Given the description of an element on the screen output the (x, y) to click on. 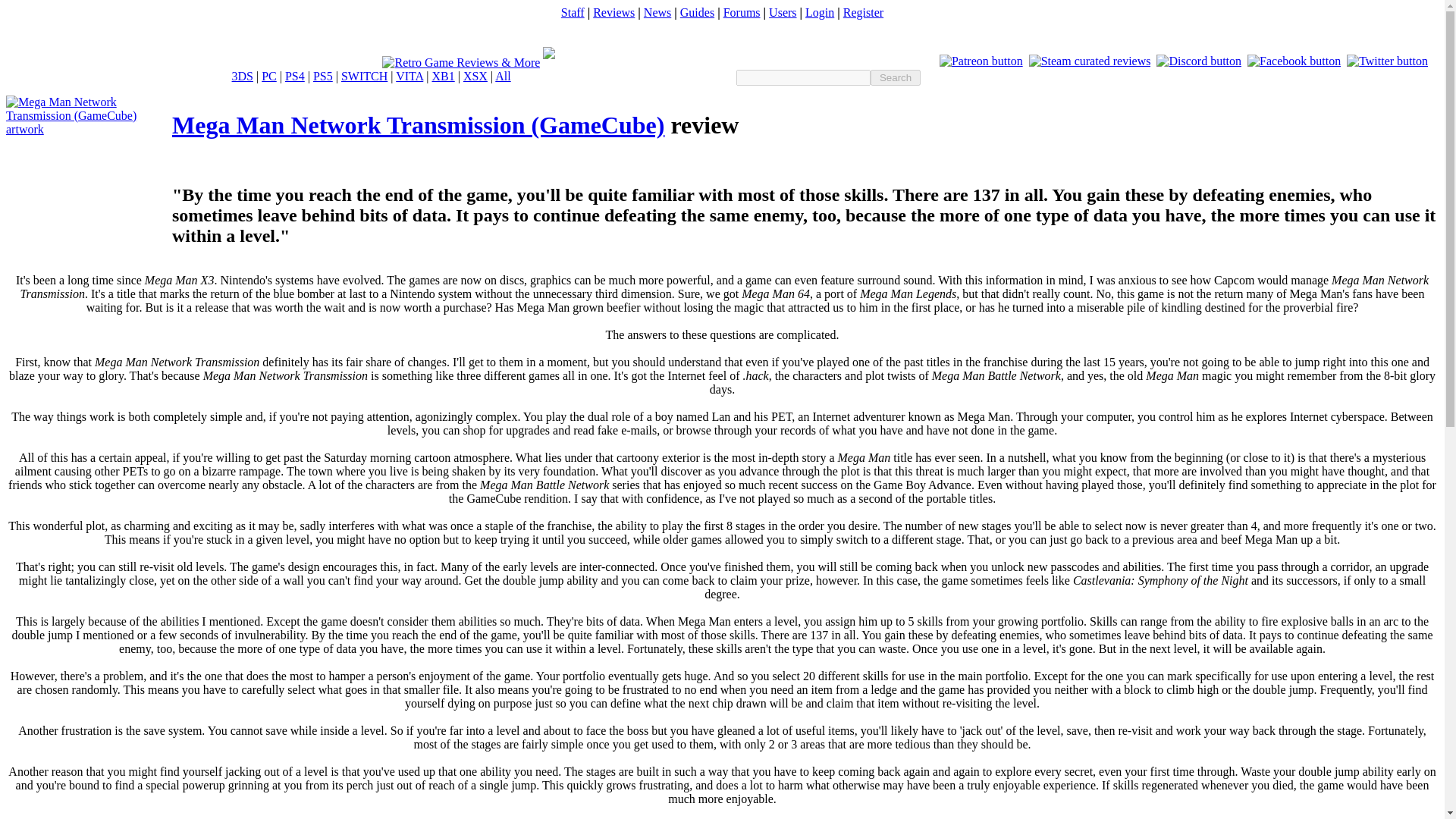
PlayStation 4 Game Reviews (294, 75)
VITA (409, 75)
Support HonestGamers contributors on Patreon (981, 60)
 Search  (895, 77)
News (657, 11)
Register for a free user account (863, 11)
Forums (741, 11)
HonestGamers on Twitter (1387, 60)
HonestGamers homepage (460, 62)
Users (782, 11)
PS4 (294, 75)
PC Game Reviews (269, 75)
Information about site staff and openings (572, 11)
 Search  (895, 77)
Reviews (613, 11)
